Given the description of an element on the screen output the (x, y) to click on. 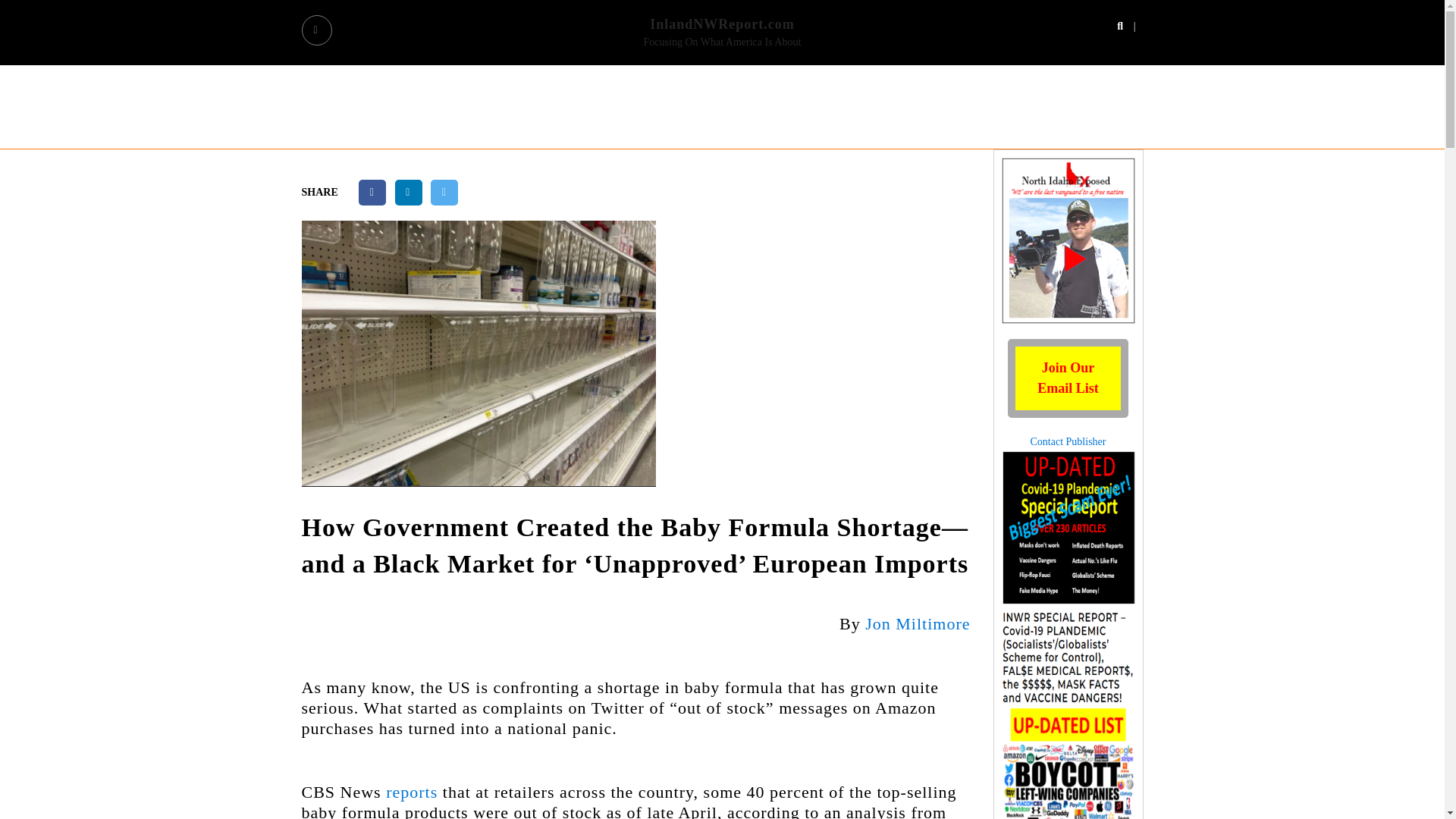
Jon Miltimore (916, 623)
reports (411, 791)
Submit (1067, 378)
Contact Publisher (1067, 409)
InlandNWReport.com (1068, 441)
